Given the description of an element on the screen output the (x, y) to click on. 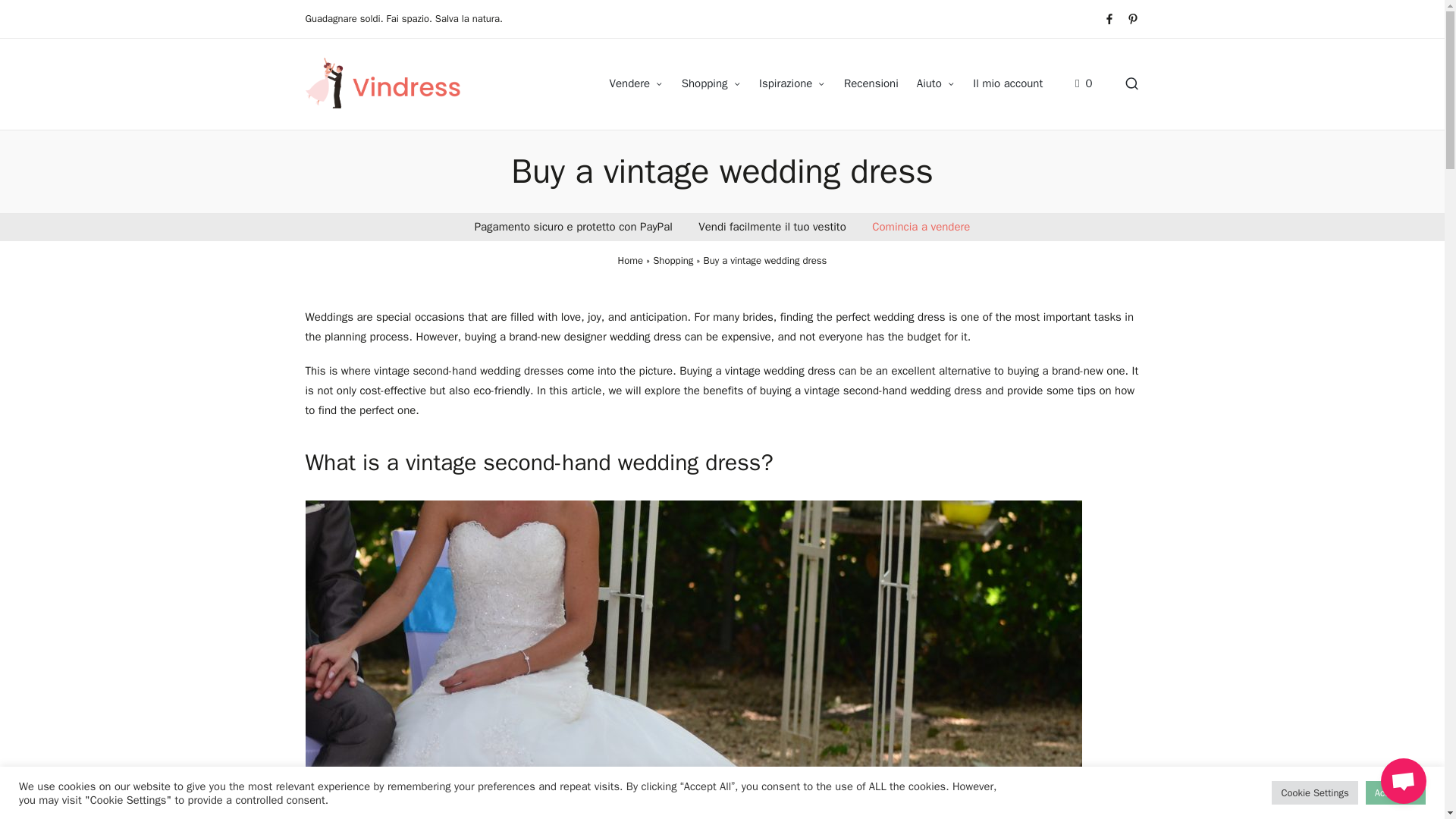
Twitter (1132, 18)
Shopping (711, 83)
View your shopping cart (1083, 83)
Facebook (1109, 18)
Vendere (636, 83)
Vendo abito da sposa su Vindress (636, 83)
Il mio account (920, 226)
